Given the description of an element on the screen output the (x, y) to click on. 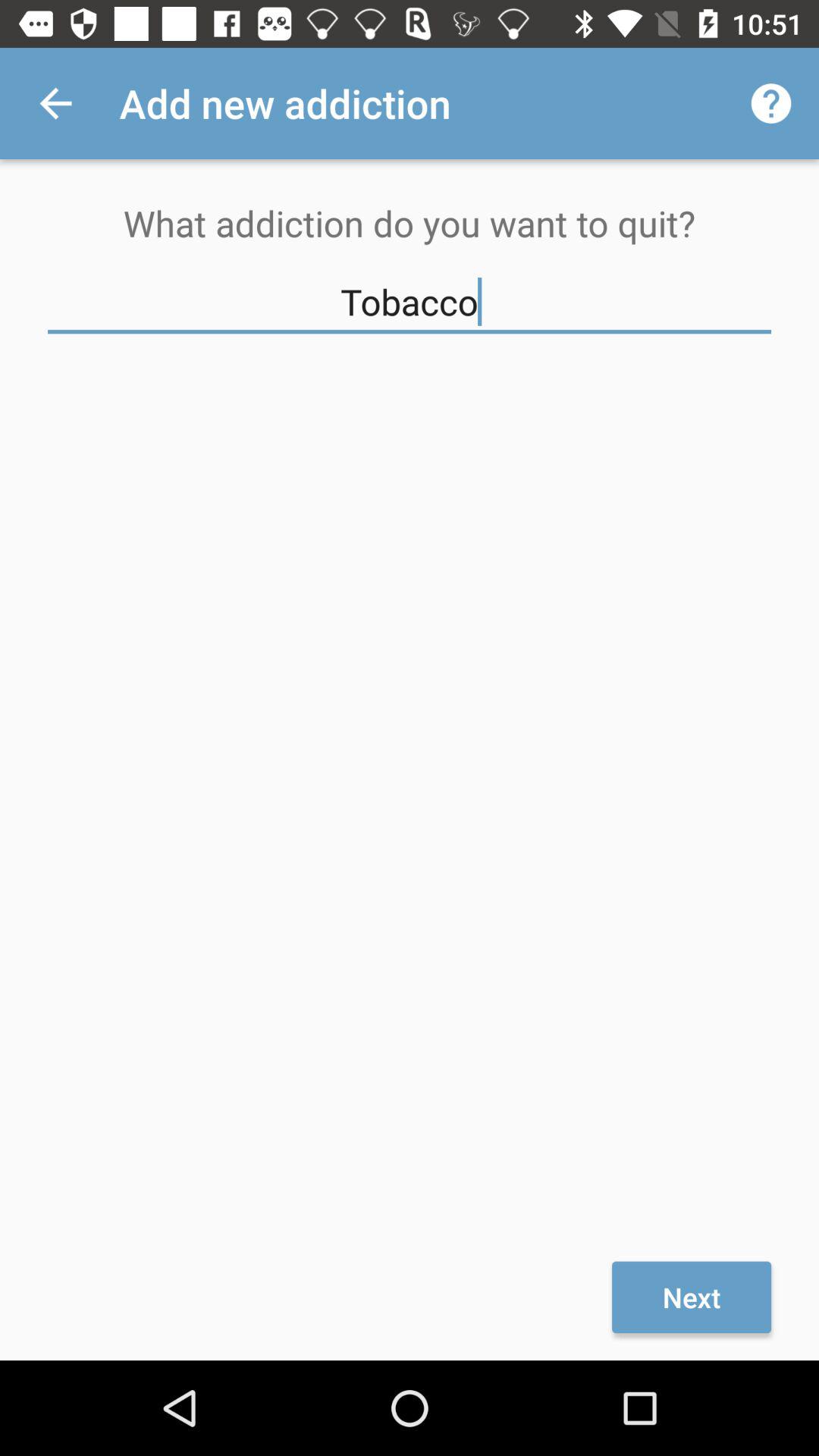
flip until next item (691, 1297)
